Given the description of an element on the screen output the (x, y) to click on. 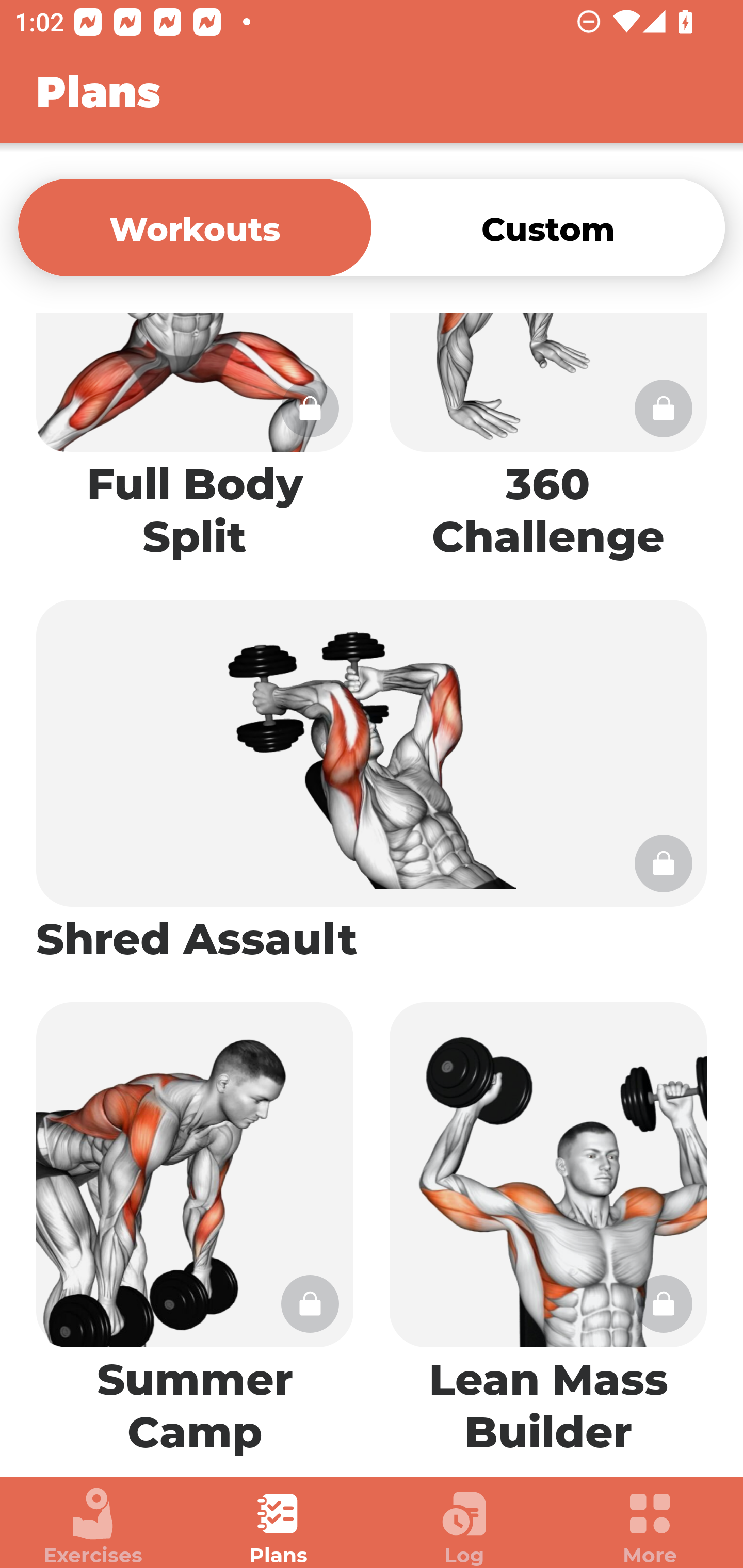
Workouts (194, 226)
Custom (548, 226)
Full Body Split (194, 446)
360 Challenge (548, 446)
Shred Assault (371, 782)
Summer Camp (194, 1230)
Lean Mass Builder (548, 1230)
Exercises (92, 1527)
Plans (278, 1527)
Log (464, 1527)
More (650, 1527)
